Given the description of an element on the screen output the (x, y) to click on. 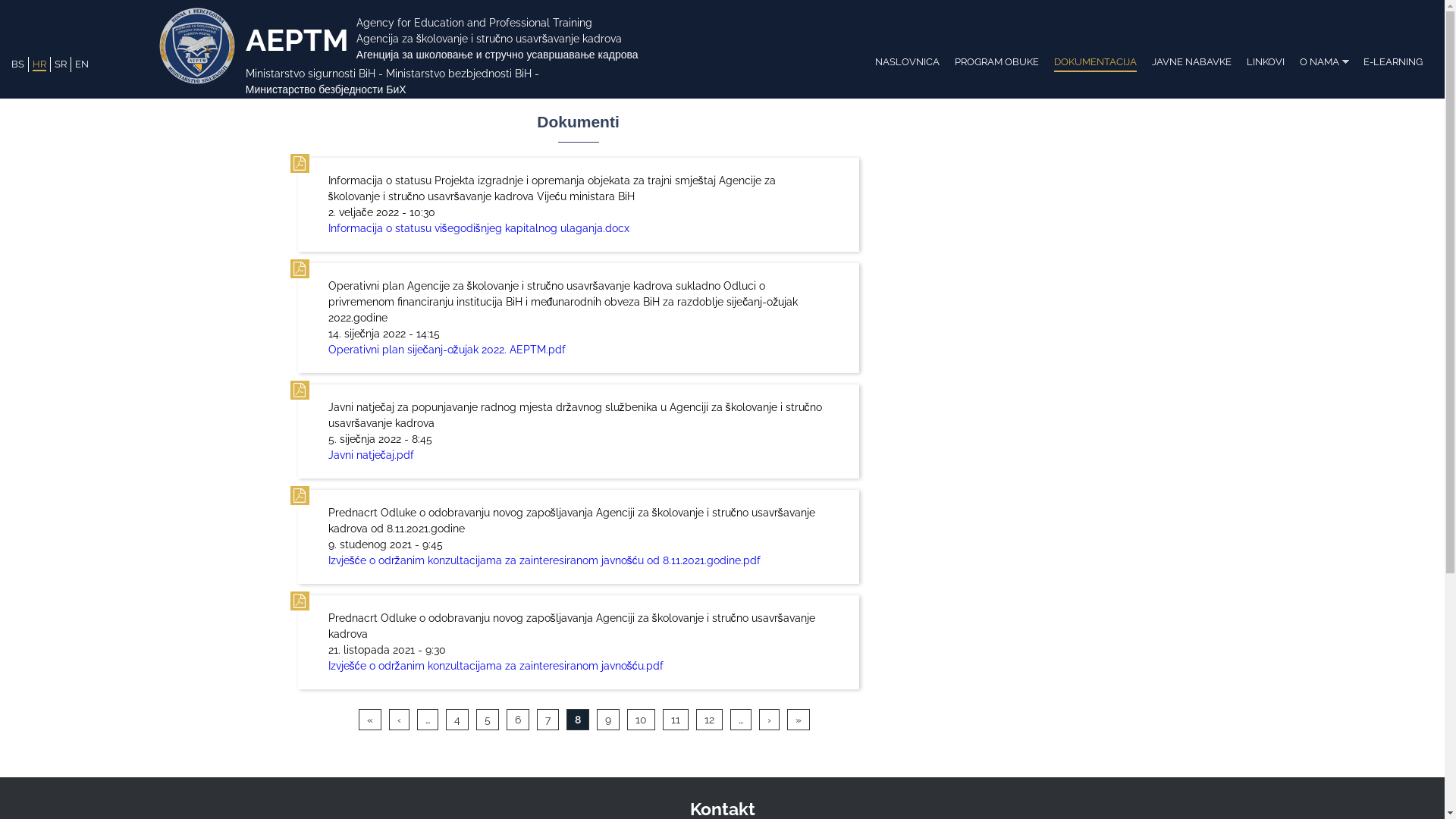
EN Element type: text (81, 63)
JAVNE NABAVKE Element type: text (1191, 59)
5 Element type: text (486, 718)
E-LEARNING Element type: text (1392, 59)
DOKUMENTACIJA Element type: text (1095, 59)
9 Element type: text (608, 718)
BS Element type: text (17, 63)
LINKOVI Element type: text (1265, 59)
4 Element type: text (456, 718)
PROGRAM OBUKE Element type: text (996, 59)
NASLOVNICA Element type: text (907, 59)
10 Element type: text (640, 718)
6 Element type: text (517, 718)
11 Element type: text (674, 718)
12 Element type: text (708, 718)
SR Element type: text (60, 63)
HR Element type: text (39, 64)
7 Element type: text (546, 718)
